Given the description of an element on the screen output the (x, y) to click on. 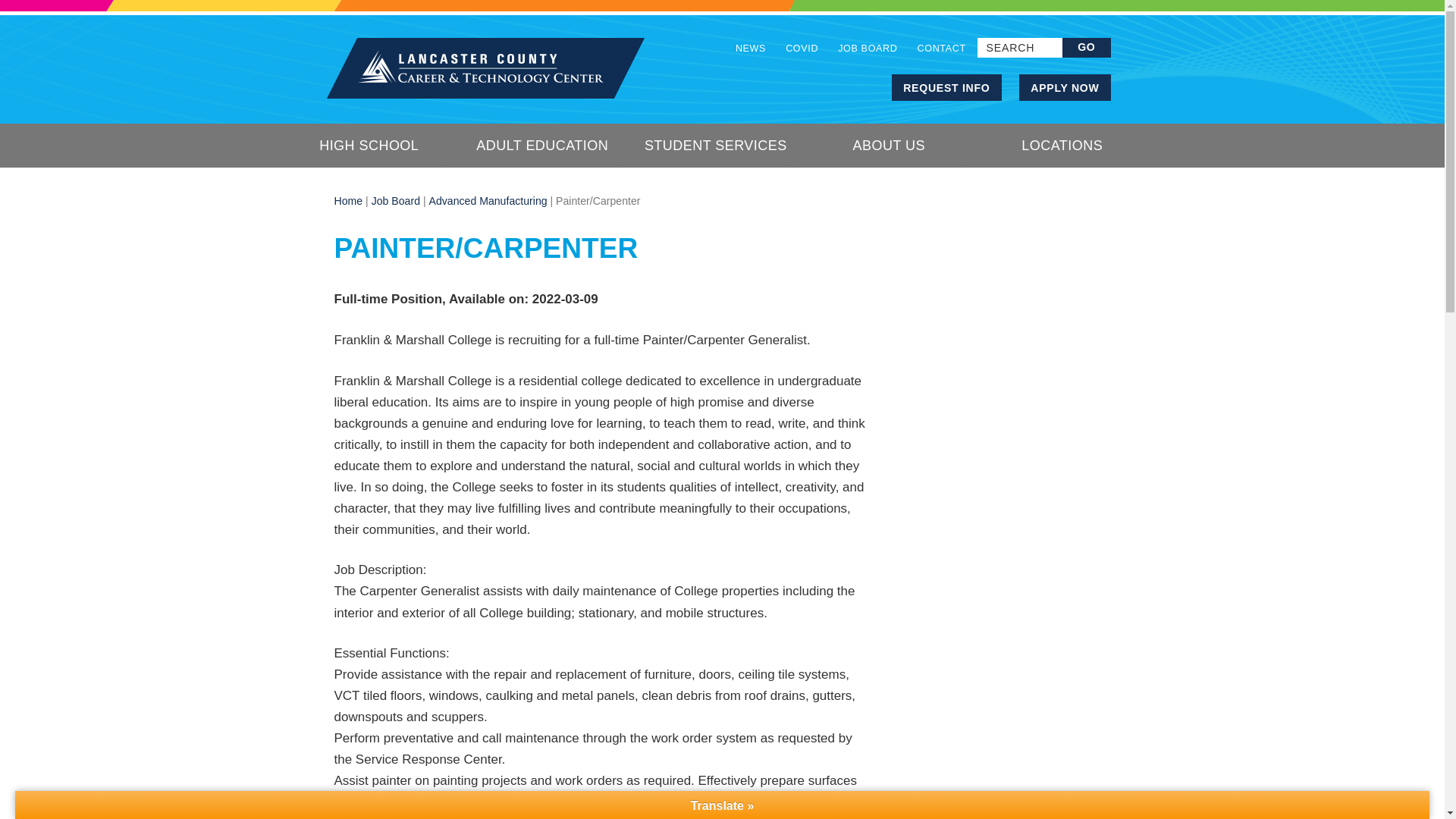
COVID (802, 51)
Go to Job Board. (395, 200)
REQUEST INFO (946, 87)
GO (1085, 47)
JOB BOARD (867, 51)
Go to the Advanced Manufacturing Job Category archives. (488, 200)
NEWS (755, 51)
Click to go back to homepage (484, 67)
ADULT EDUCATION (543, 145)
APPLY NOW (1064, 87)
HIGH SCHOOL (369, 145)
CONTACT (936, 51)
